Given the description of an element on the screen output the (x, y) to click on. 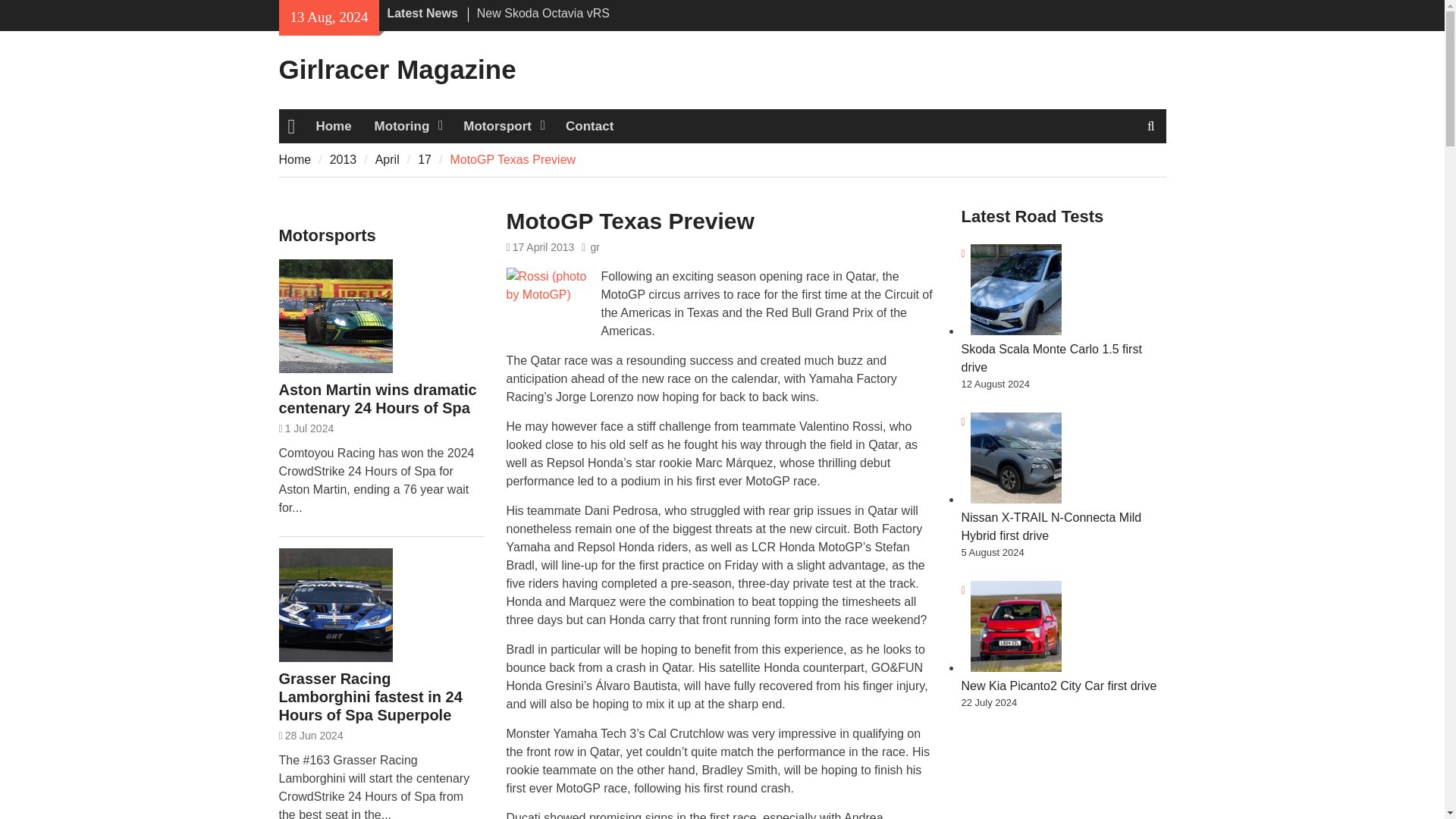
Motoring (407, 126)
17 (423, 159)
Motorsport (502, 126)
17 April 2013 (543, 246)
2013 (343, 159)
Girlracer Magazine (397, 69)
Home (295, 159)
April (386, 159)
Home (333, 126)
Contact (589, 126)
